Given the description of an element on the screen output the (x, y) to click on. 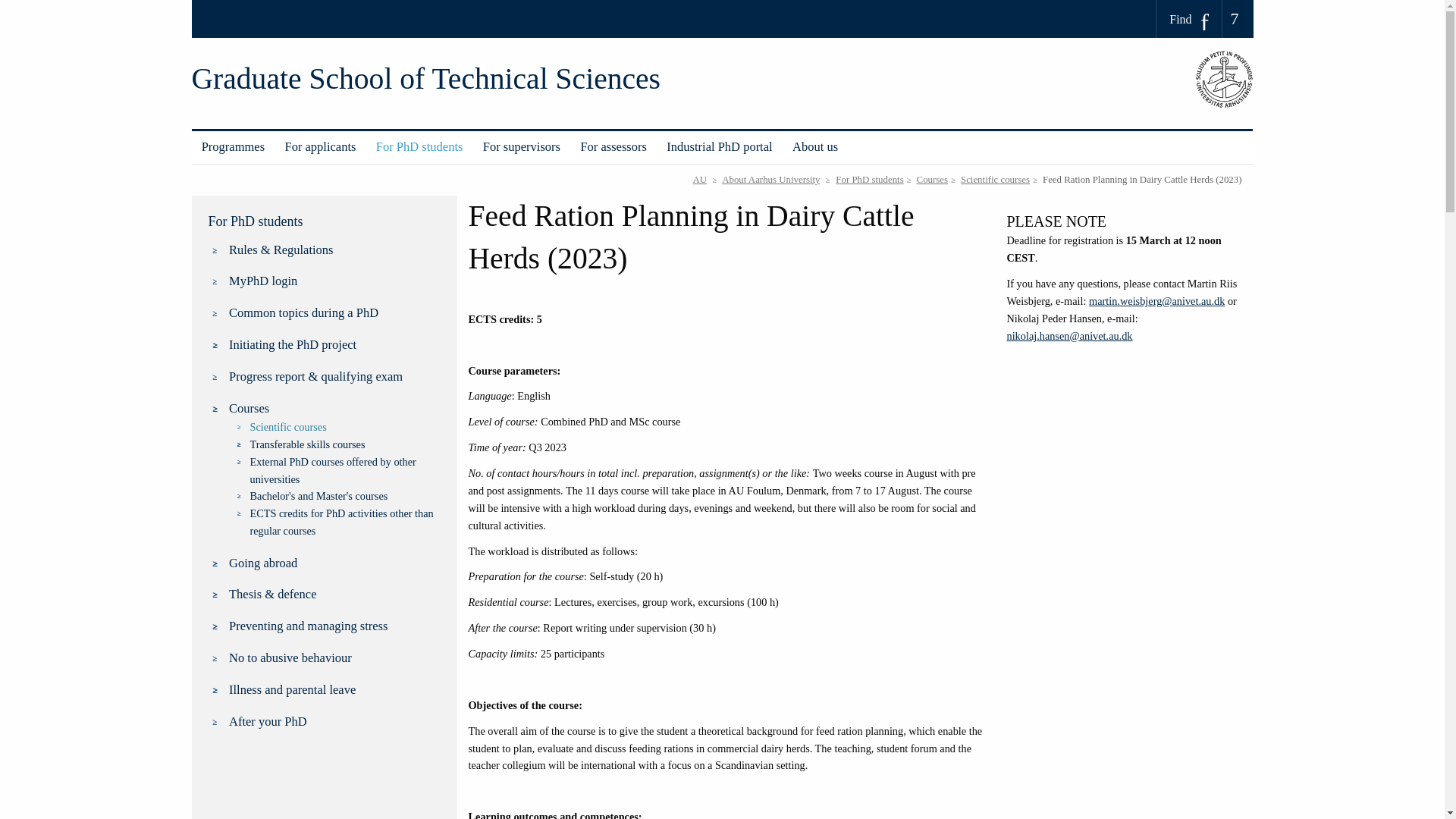
Find (1189, 19)
Search (17, 5)
For PhD students (419, 147)
For supervisors (521, 147)
Programmes (232, 147)
For applicants (320, 147)
Graduate School of Technical Sciences (425, 78)
